Given the description of an element on the screen output the (x, y) to click on. 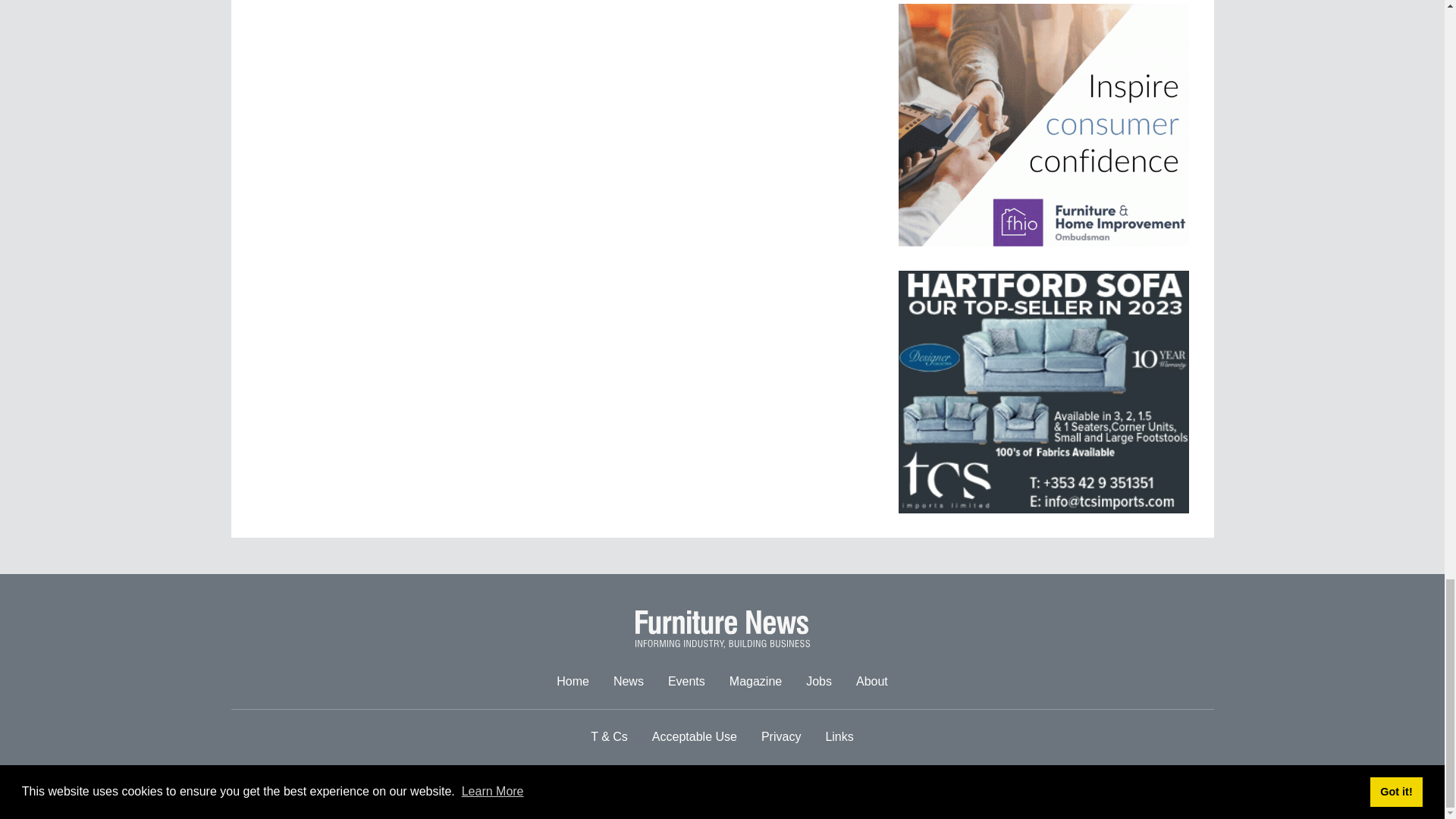
Links (838, 736)
Jobs (818, 681)
Privacy (780, 736)
Magazine (755, 681)
About (871, 681)
Acceptable Use (694, 736)
News (628, 681)
Events (686, 681)
Home (572, 681)
